Given the description of an element on the screen output the (x, y) to click on. 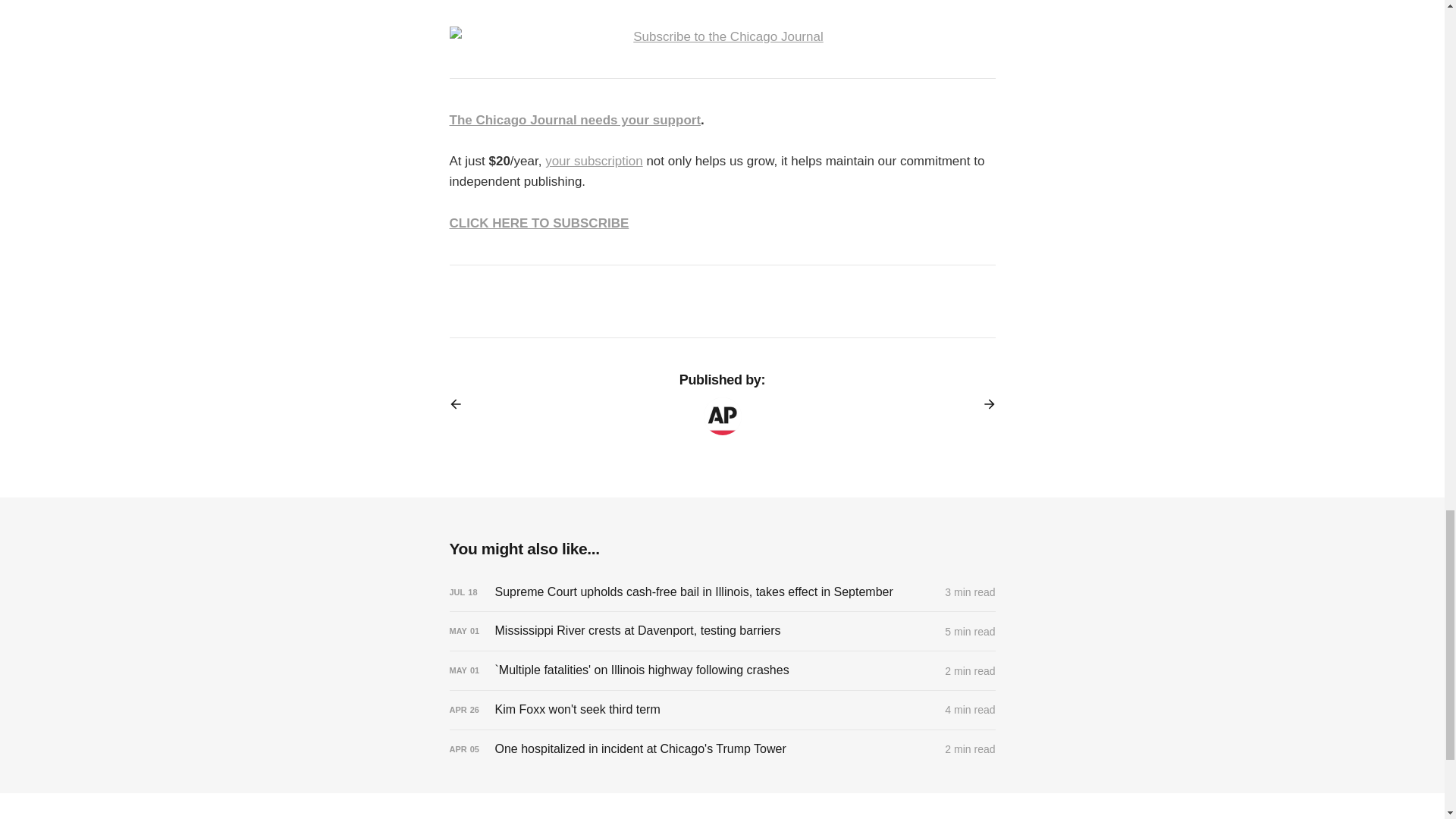
The Chicago Journal needs your support (574, 120)
CLICK HERE TO SUBSCRIBE (538, 223)
your subscription (593, 160)
